Given the description of an element on the screen output the (x, y) to click on. 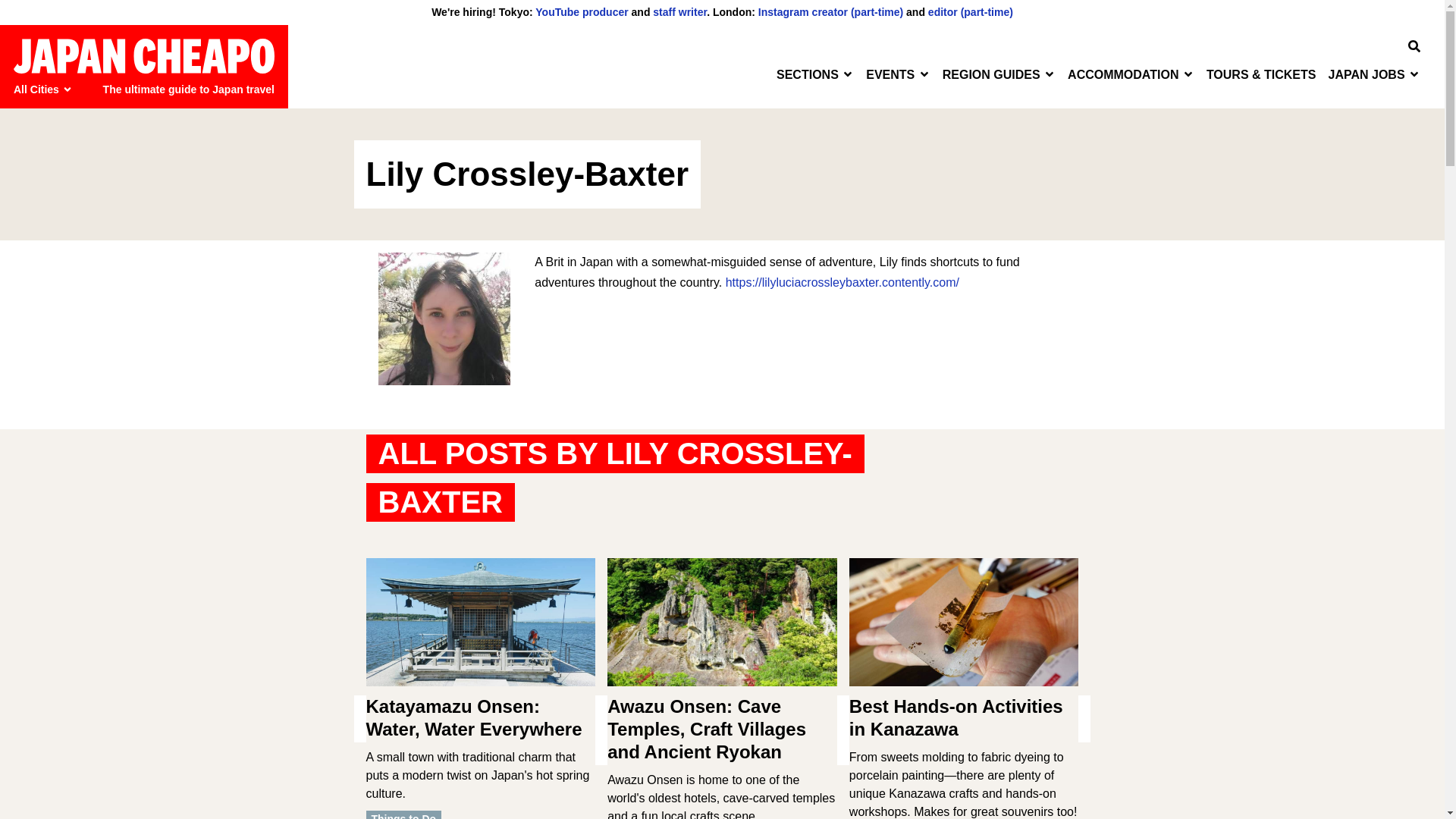
EVENTS (898, 74)
Region Guides (998, 74)
SECTIONS (815, 74)
Japan Cheapo (144, 55)
YouTube producer (581, 11)
REGION GUIDES (998, 74)
All Cities (45, 89)
Events (898, 74)
staff writer (679, 11)
Japan Cheapo Homepage (144, 55)
Sections (815, 74)
